Given the description of an element on the screen output the (x, y) to click on. 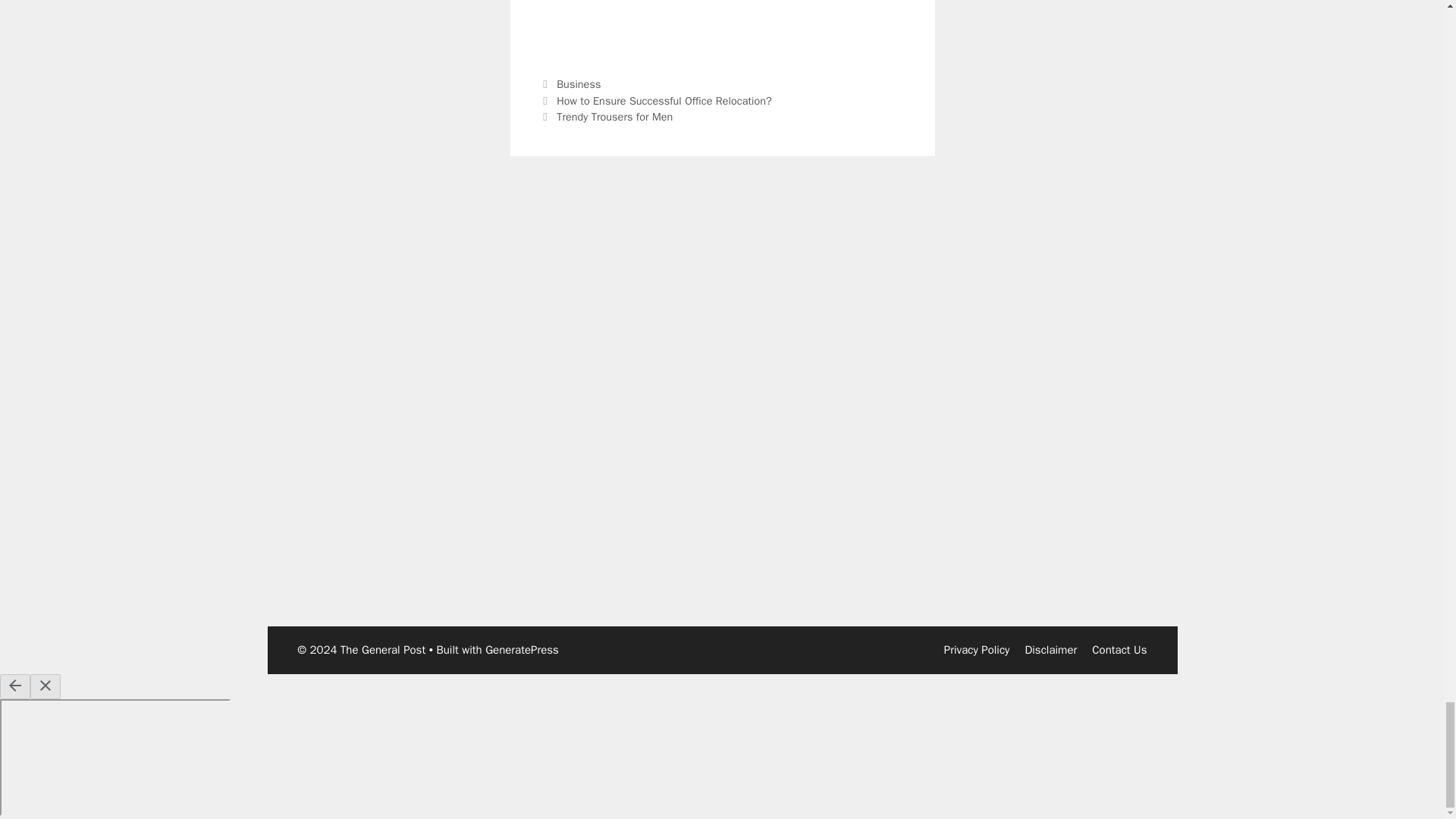
Business (577, 83)
How to Ensure Successful Office Relocation? (663, 100)
Trendy Trousers for Men (614, 116)
